Given the description of an element on the screen output the (x, y) to click on. 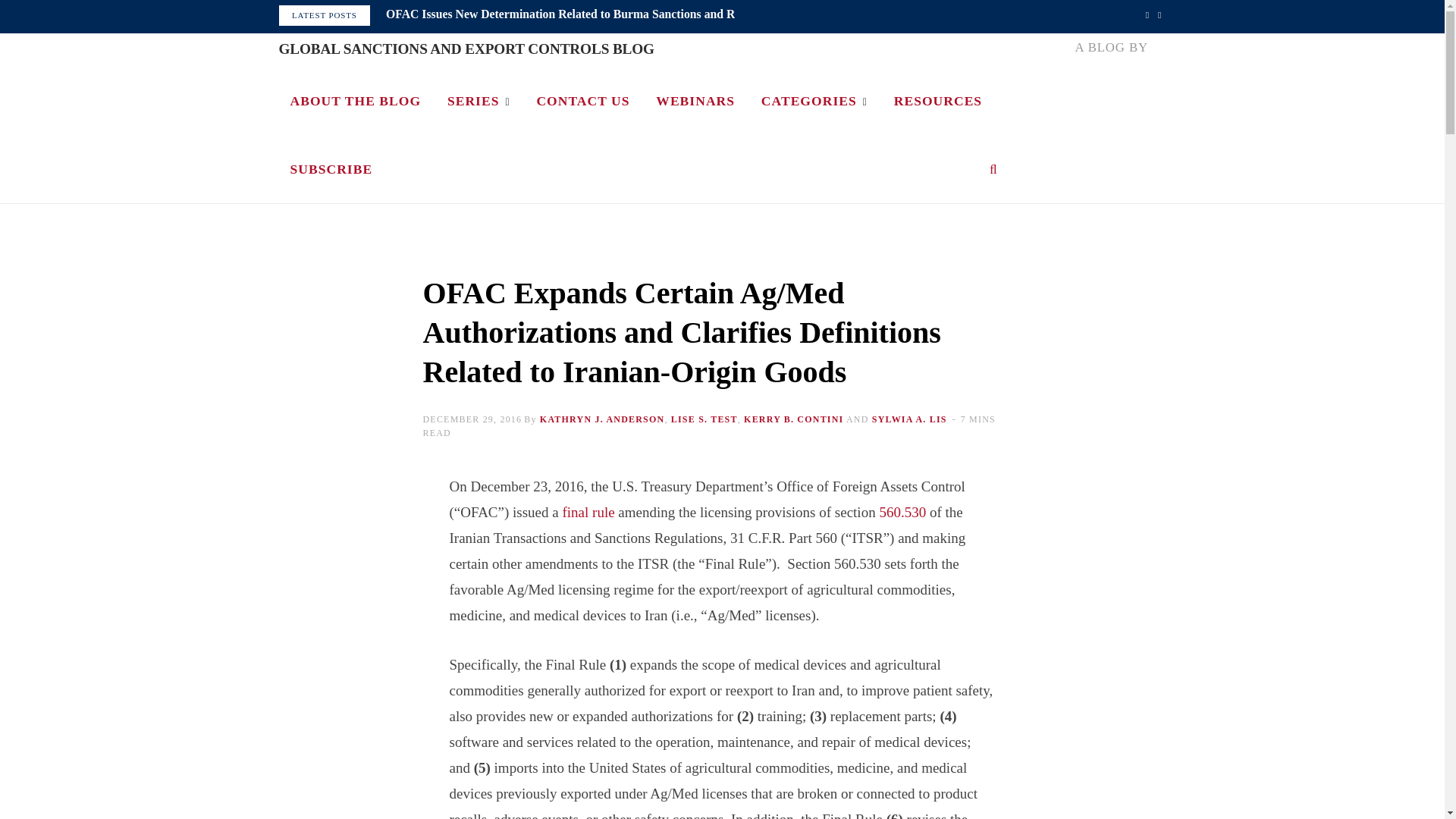
GLOBAL SANCTIONS AND EXPORT CONTROLS BLOG (466, 49)
ABOUT THE BLOG (355, 100)
SERIES (478, 100)
CATEGORIES (814, 100)
CONTACT US (582, 100)
WEBINARS (695, 100)
Posts by Kathryn J. Anderson (602, 419)
Global Sanctions and Export Controls Blog (466, 49)
